Given the description of an element on the screen output the (x, y) to click on. 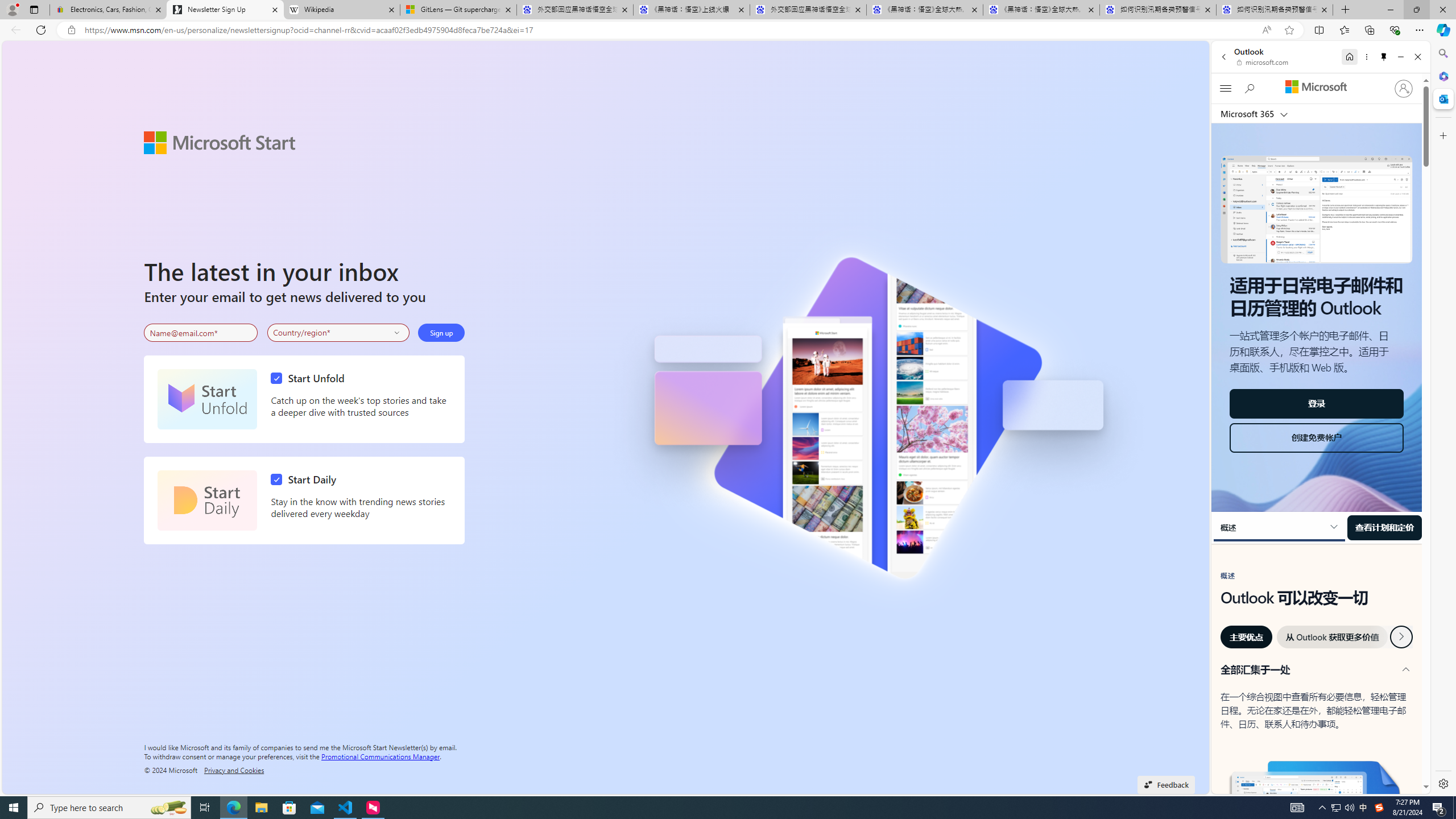
Collections (1369, 29)
Read aloud this page (Ctrl+Shift+U) (1266, 29)
Copilot (Ctrl+Shift+.) (1442, 29)
Unpin side pane (1383, 56)
Start Daily (306, 479)
App bar (728, 29)
Back (1223, 56)
Settings (1442, 783)
Outlook (1442, 98)
Side bar (1443, 418)
